Given the description of an element on the screen output the (x, y) to click on. 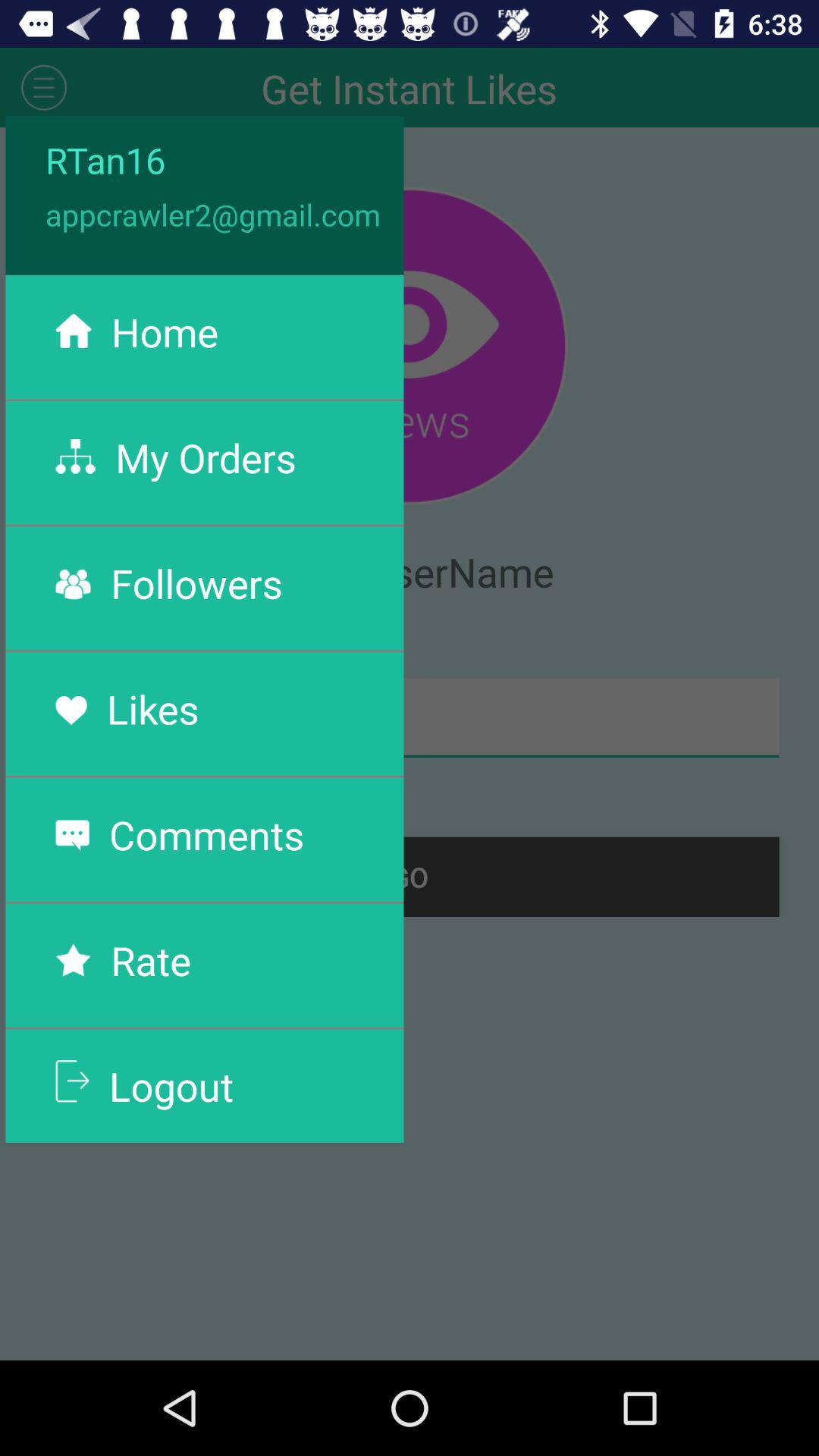
open the likes icon (152, 708)
